Given the description of an element on the screen output the (x, y) to click on. 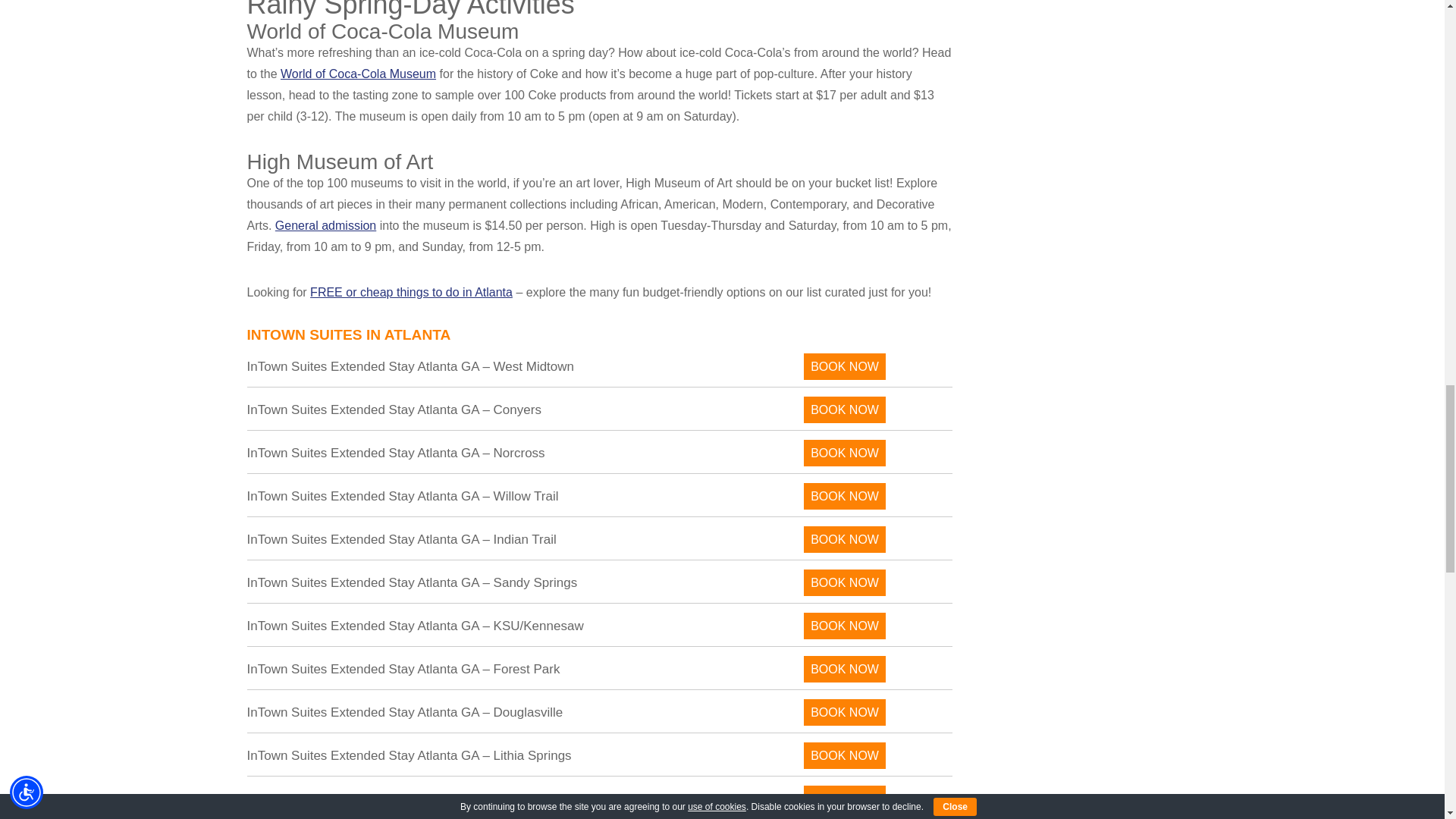
FREE or cheap things to do in Atlanta (411, 291)
BOOK NOW (844, 452)
BOOK NOW (844, 409)
BOOK NOW (844, 366)
World of Coca-Cola Museum (358, 73)
General admission (325, 225)
